Given the description of an element on the screen output the (x, y) to click on. 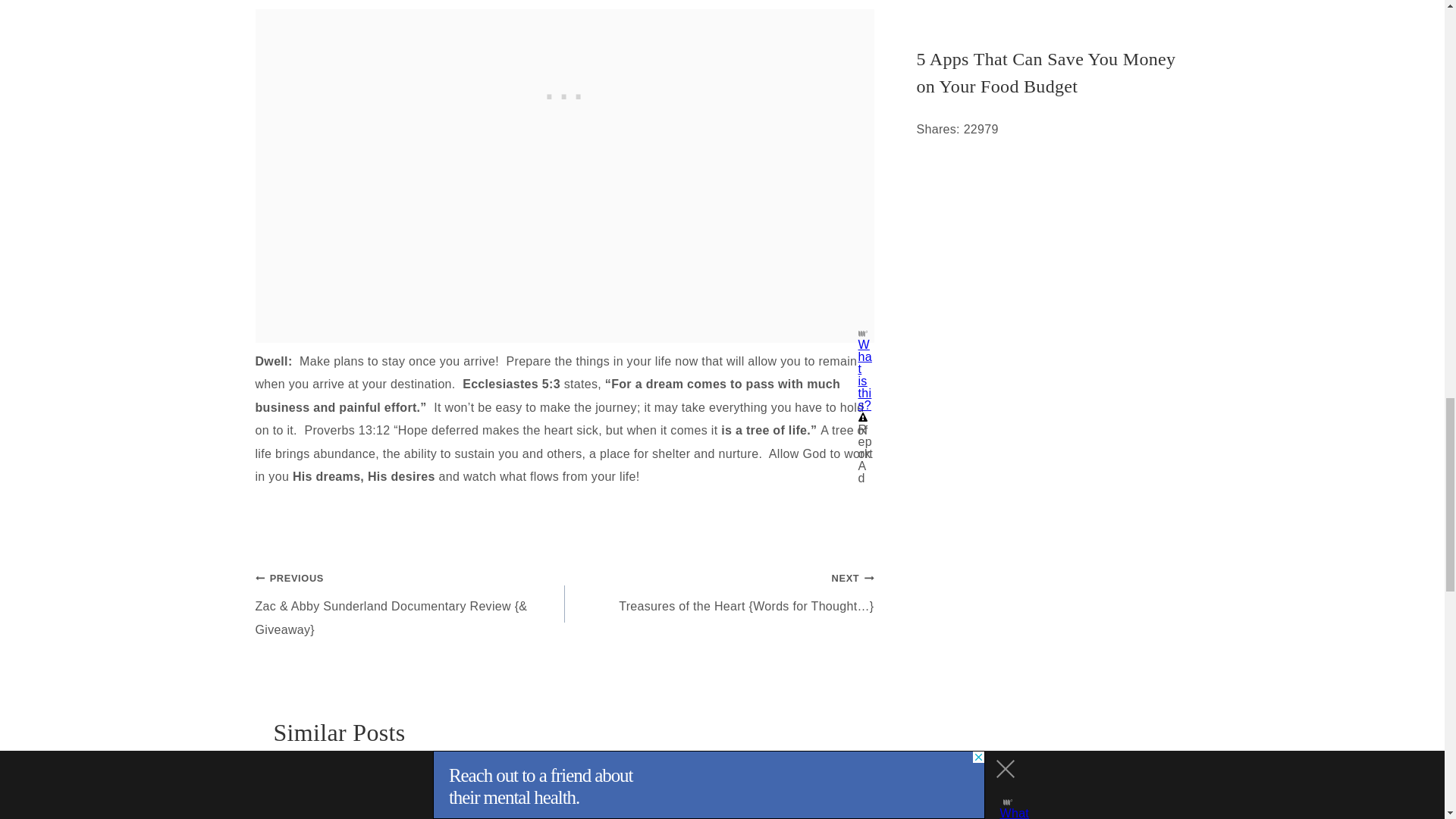
3rd party ad content (564, 42)
5 Apps That Can Save You Money on Your Food Budget (1052, 72)
5 Apps That Can Save You Money on Your Food Budget (1052, 15)
